Given the description of an element on the screen output the (x, y) to click on. 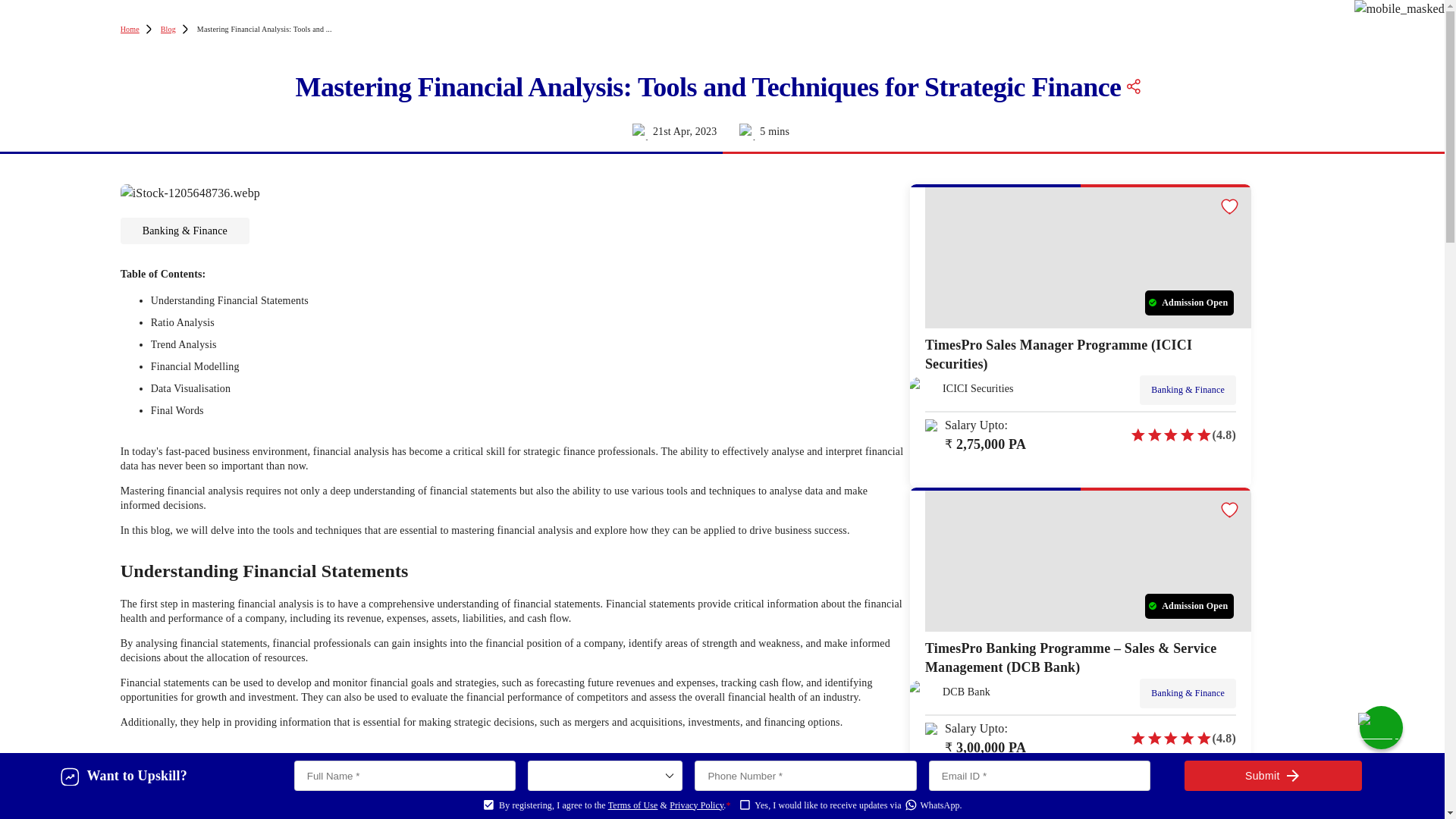
Submit (1273, 775)
Privacy Policy (696, 805)
Home (129, 29)
Blog (168, 29)
Terms of Use (633, 805)
